Given the description of an element on the screen output the (x, y) to click on. 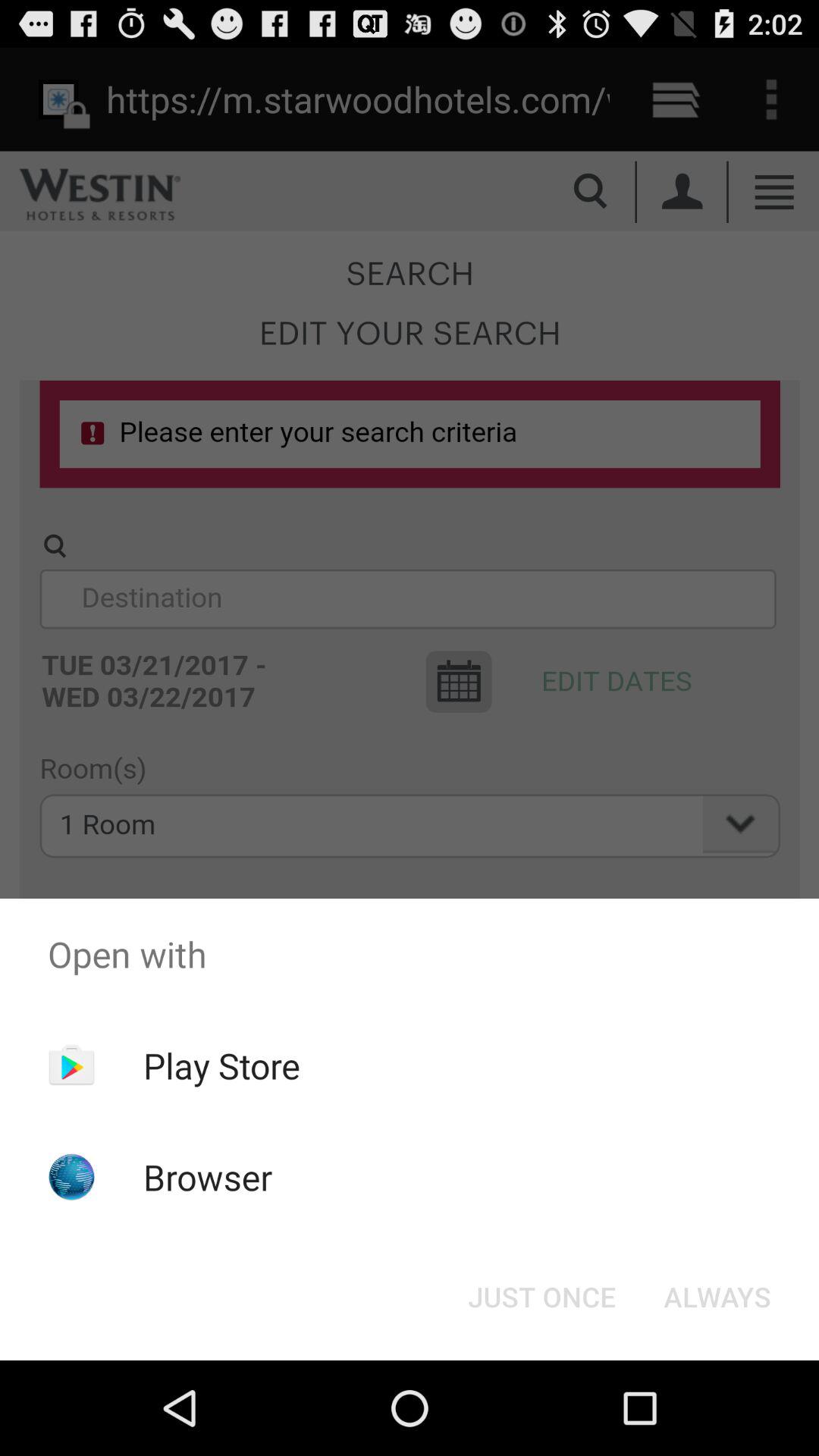
choose item above browser item (221, 1065)
